Given the description of an element on the screen output the (x, y) to click on. 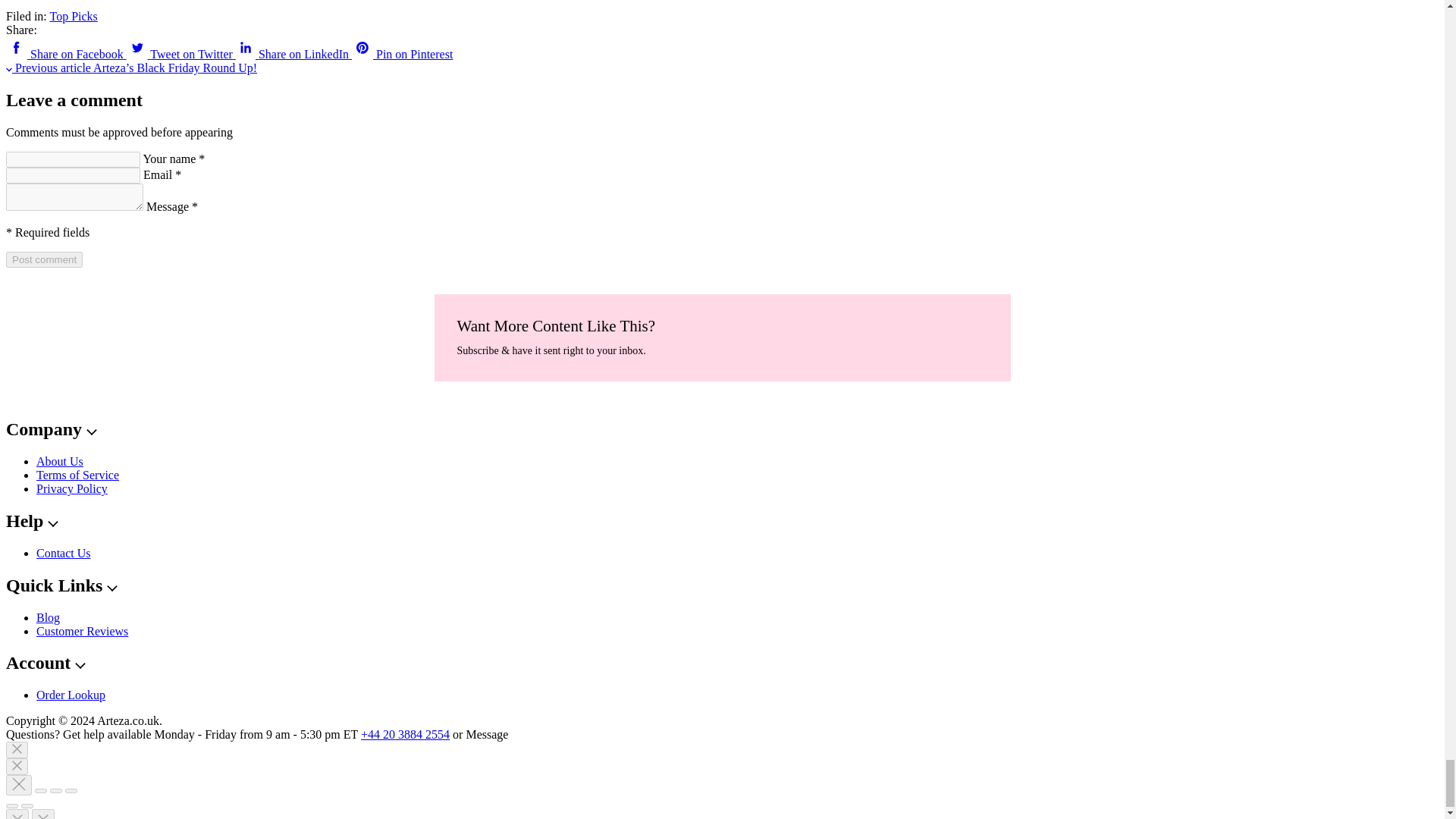
Toggle fullscreen (55, 790)
Share (40, 790)
Close (18, 784)
Show articles tagged Top Picks (73, 15)
